Given the description of an element on the screen output the (x, y) to click on. 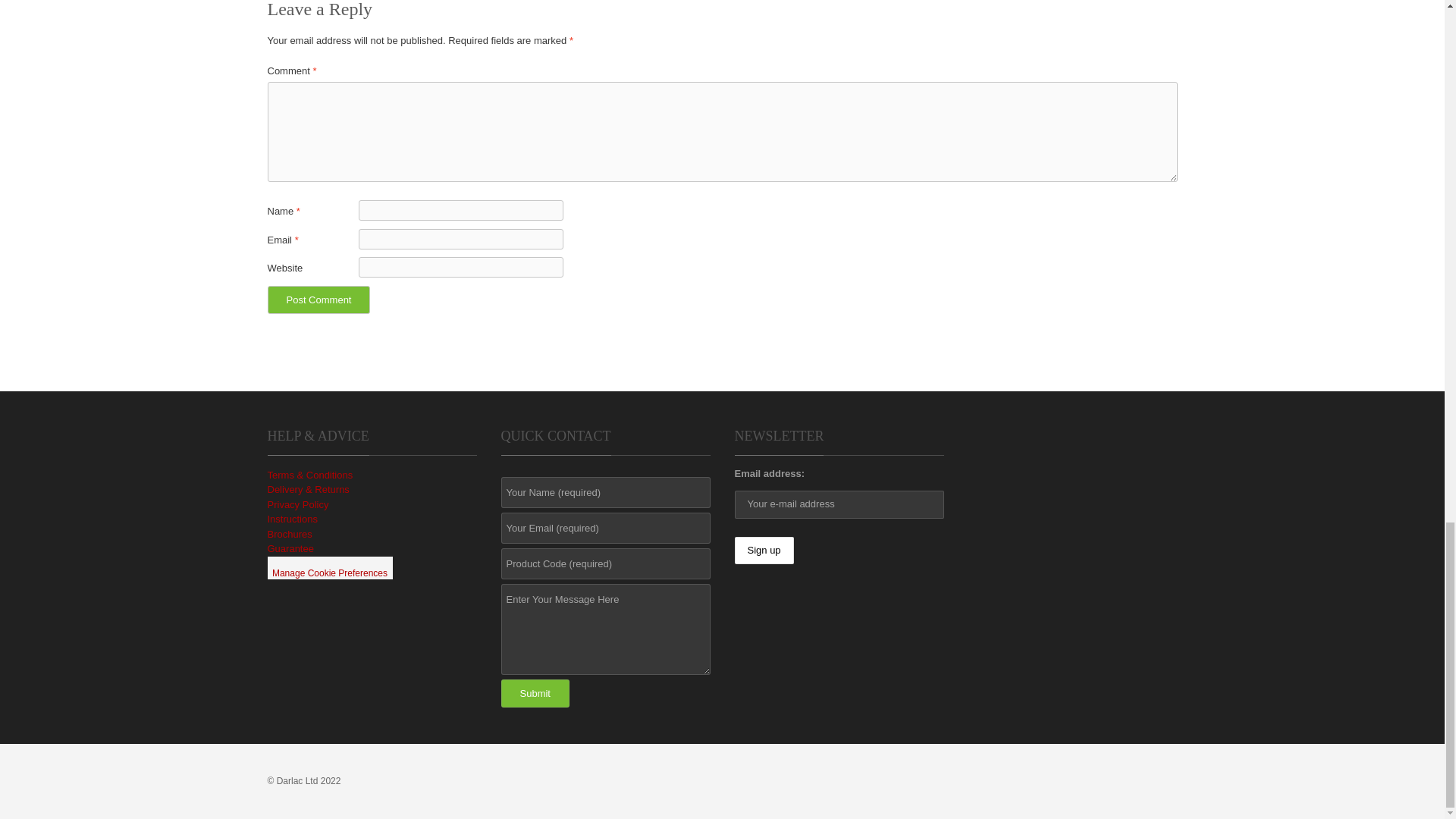
Instructions (291, 518)
Guarantee (289, 548)
Submit (534, 693)
Sign up (763, 551)
Manage Cookie Preferences (328, 567)
Brochures (288, 533)
Post Comment (317, 299)
Submit (534, 693)
Post Comment (317, 299)
Sign up (763, 551)
